Given the description of an element on the screen output the (x, y) to click on. 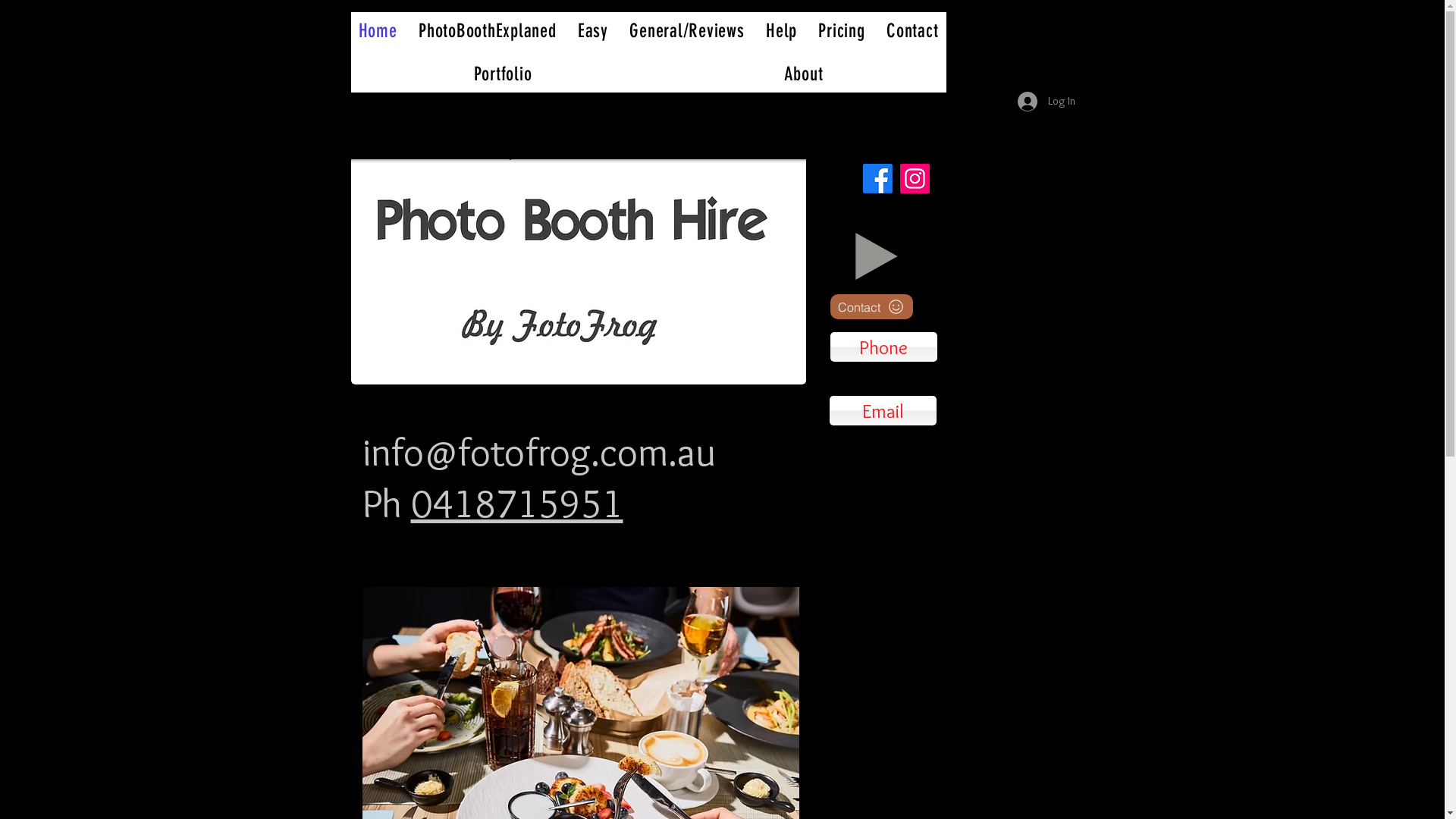
Contact Element type: text (870, 306)
Pricing Element type: text (841, 30)
0418715951 Element type: text (517, 503)
Phone Element type: text (882, 346)
Easy Element type: text (592, 30)
Portfolio Element type: text (502, 73)
Home Element type: text (377, 30)
Help Element type: text (781, 30)
General/Reviews Element type: text (686, 30)
Contact Element type: text (912, 30)
Log In Element type: text (1046, 100)
About Element type: text (803, 73)
PhotoBoothExplaned Element type: text (487, 30)
Email Element type: text (882, 410)
info@fotofrog.com.au Element type: text (538, 451)
